Given the description of an element on the screen output the (x, y) to click on. 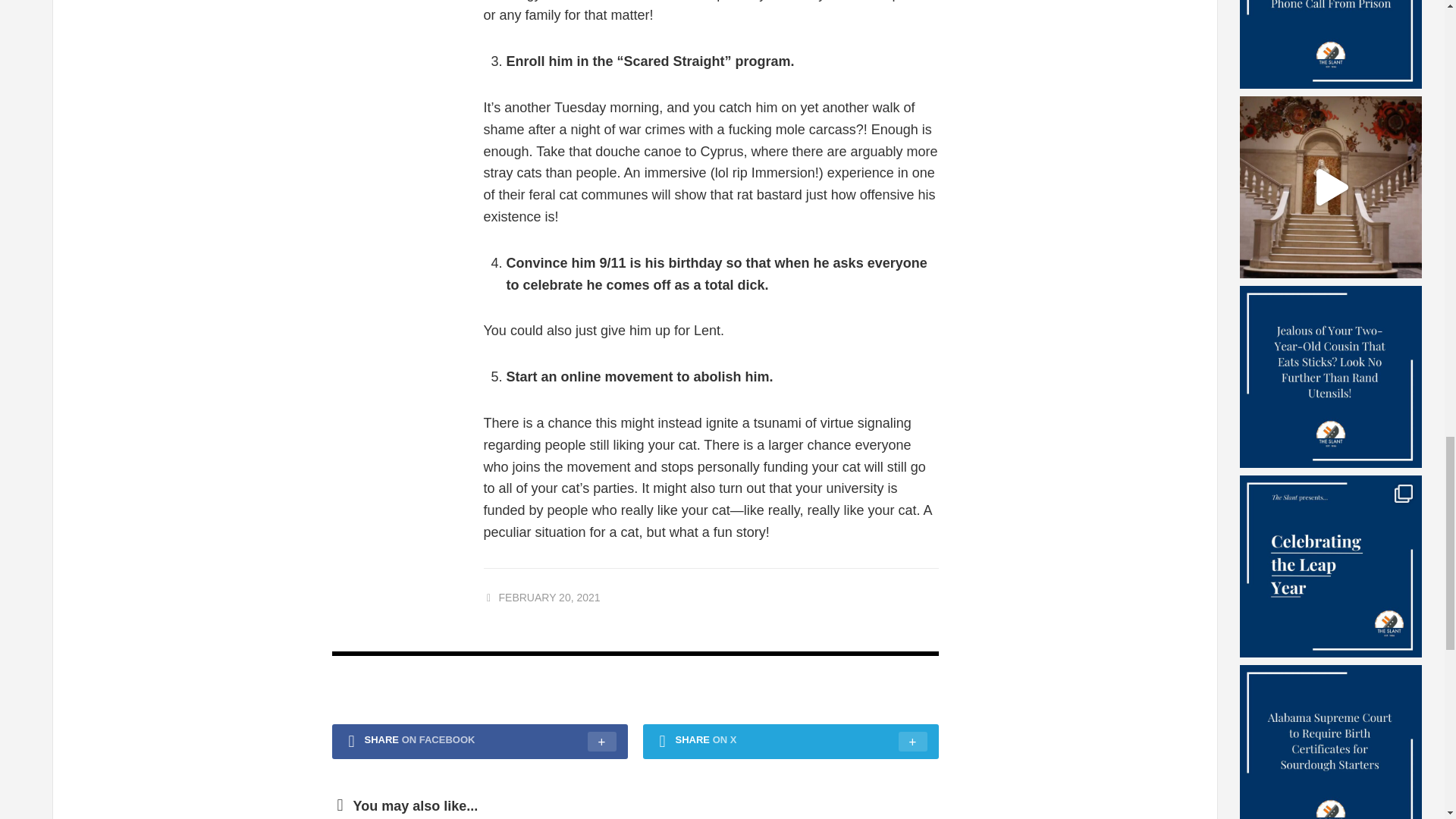
SHARE ON FACEBOOK (479, 741)
SHARE ON X (791, 741)
